Given the description of an element on the screen output the (x, y) to click on. 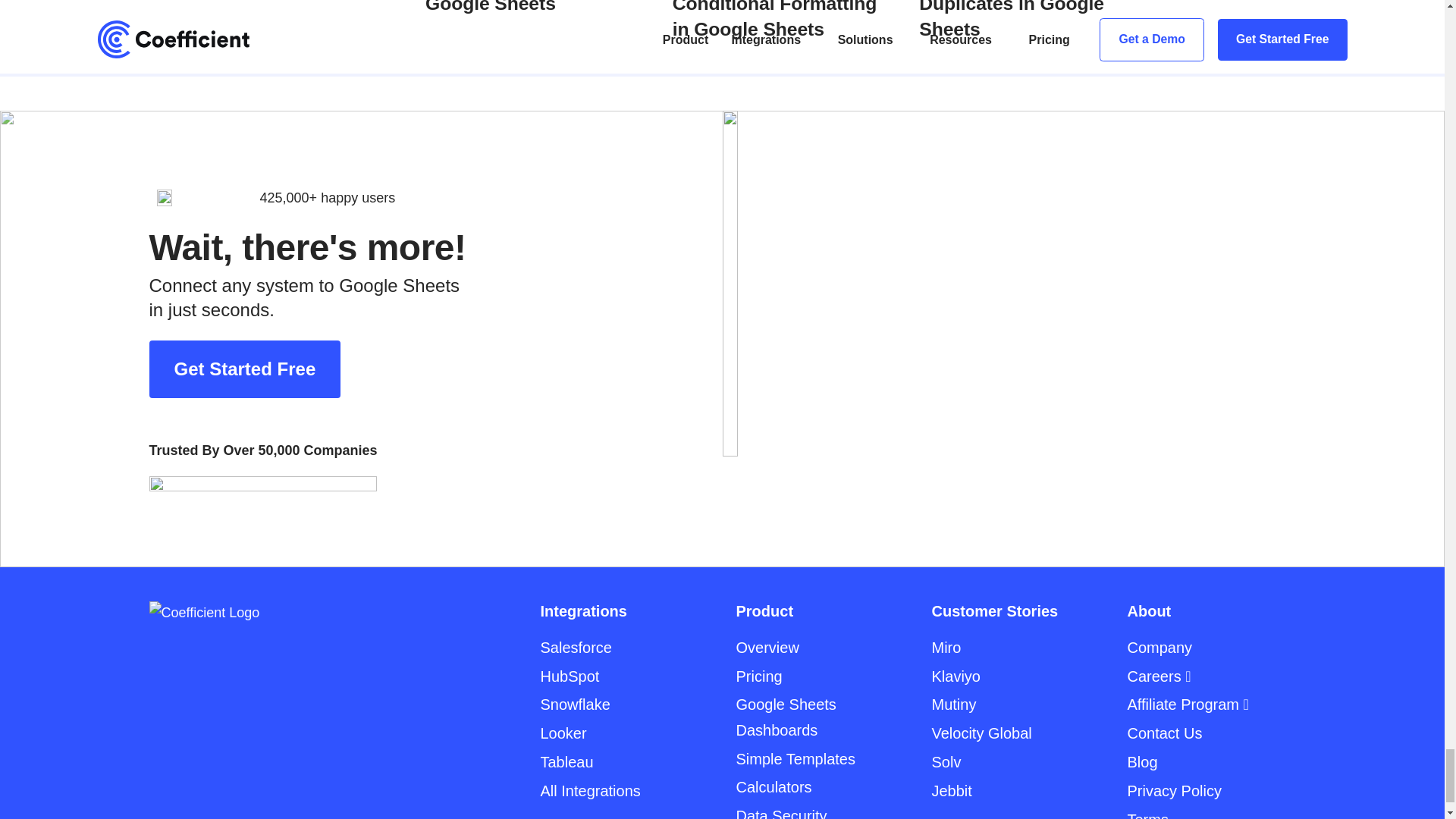
HubSpot (569, 676)
How to Highlight Duplicates in Google Sheets (1021, 20)
A Complete Guide to Conditional Formatting in Google Sheets (775, 20)
Salesforce (575, 647)
Get Started Free (244, 369)
How to Search in Google Sheets (528, 20)
